Given the description of an element on the screen output the (x, y) to click on. 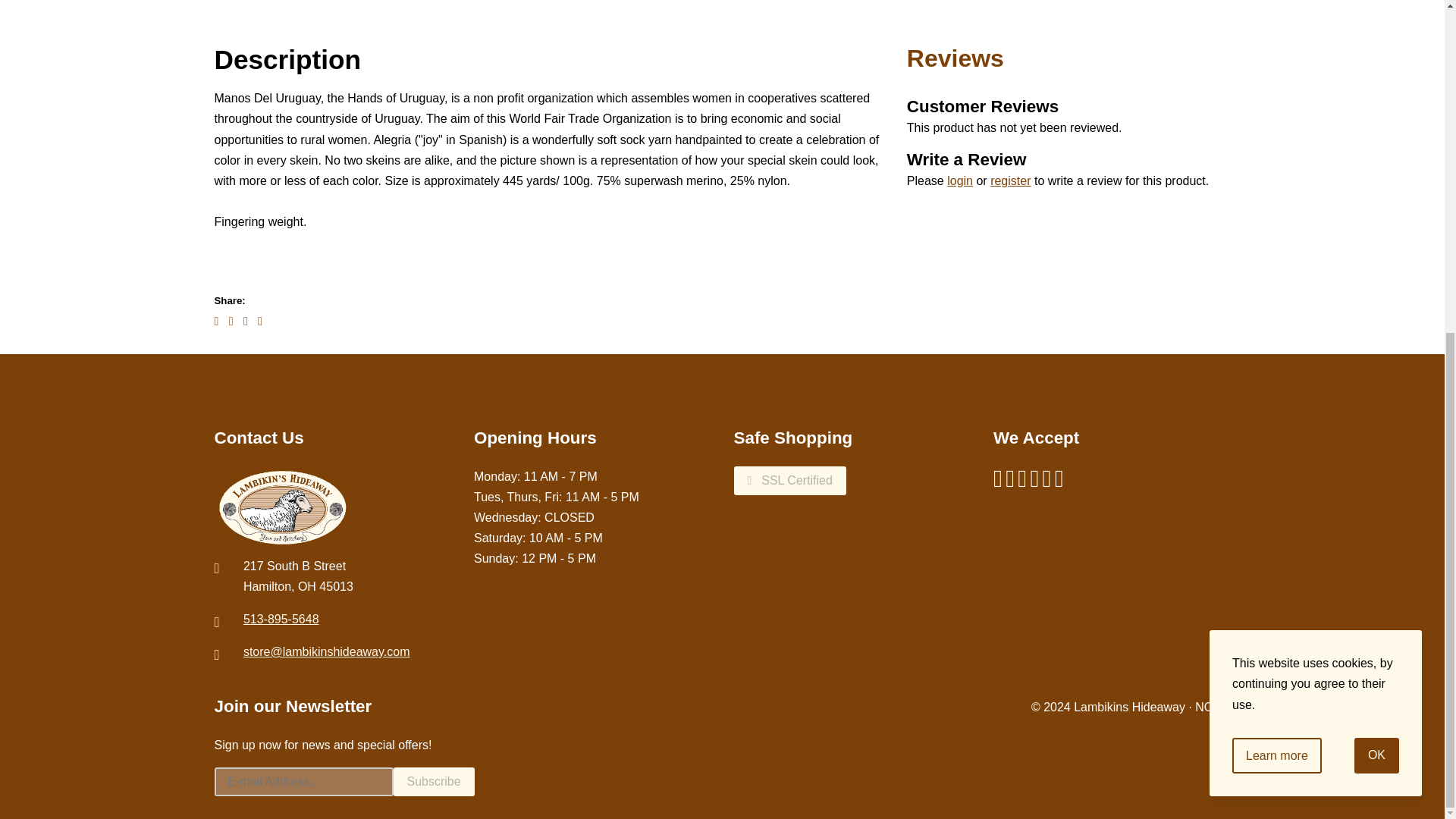
register (1010, 180)
Learn more (1276, 201)
Subscribe (433, 781)
513-895-5648 (280, 619)
  SSL Certified (789, 480)
login (959, 180)
OK (1376, 201)
